Given the description of an element on the screen output the (x, y) to click on. 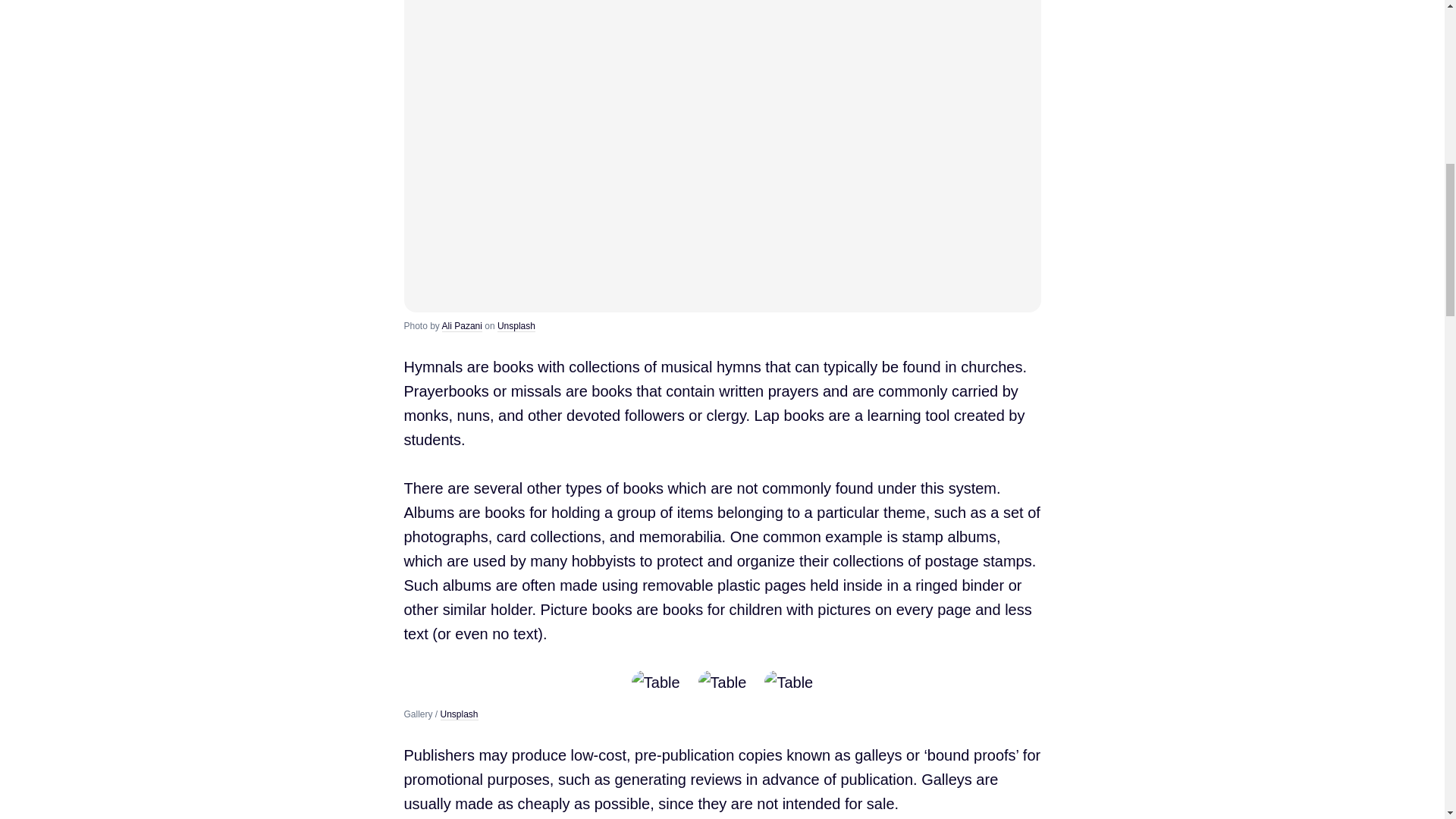
Ali Pazani (461, 326)
Unsplash (516, 326)
Unsplash (460, 714)
